Given the description of an element on the screen output the (x, y) to click on. 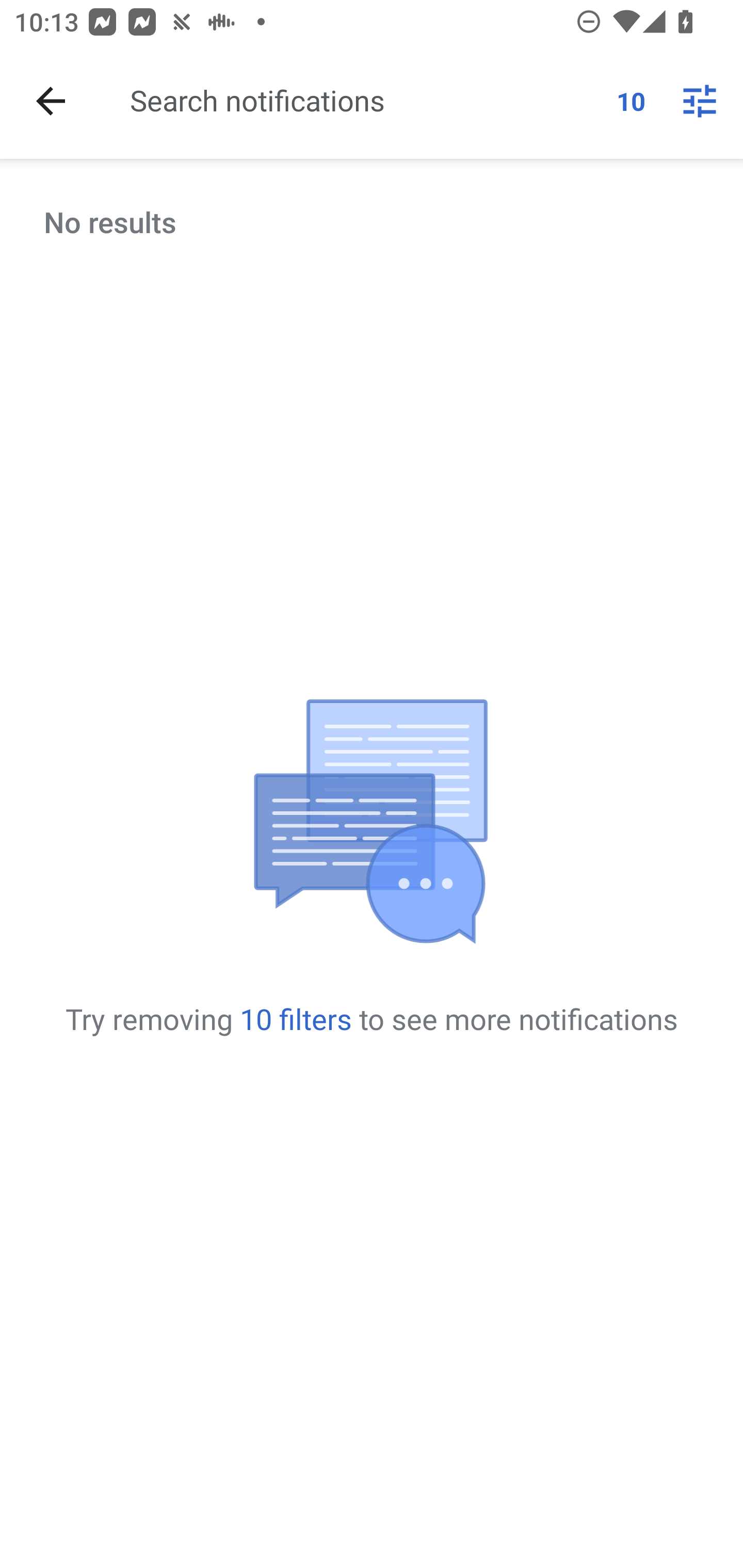
Done (50, 101)
Notification filter (699, 101)
Search notifications (365, 100)
